Given the description of an element on the screen output the (x, y) to click on. 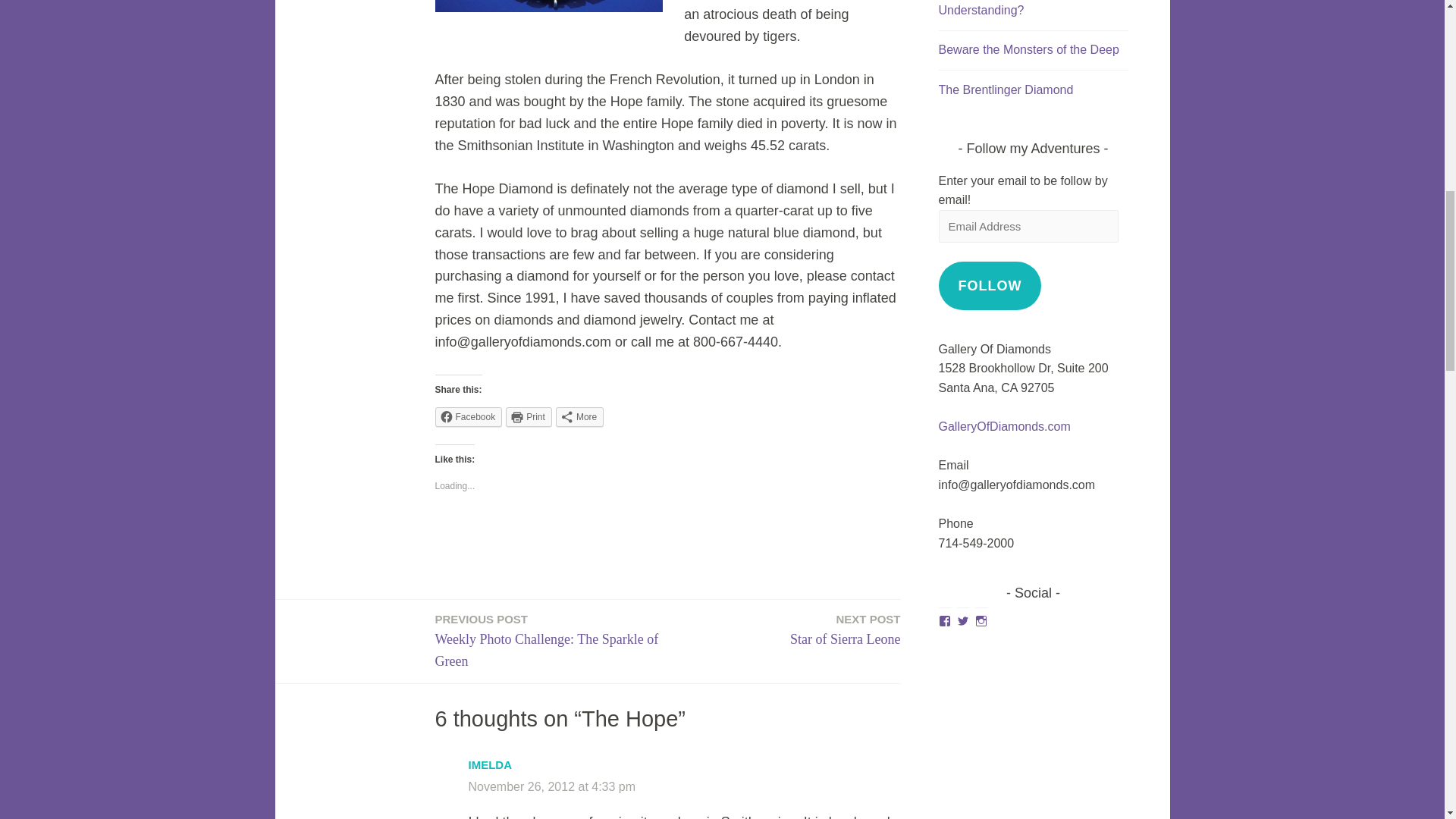
Print (528, 416)
More (580, 416)
Click to share on Facebook (468, 416)
Facebook (468, 416)
TheHopeDiamond (548, 5)
IMELDA (490, 764)
November 26, 2012 at 4:33 pm (552, 786)
Like or Reblog (844, 630)
Click to print (668, 536)
